Given the description of an element on the screen output the (x, y) to click on. 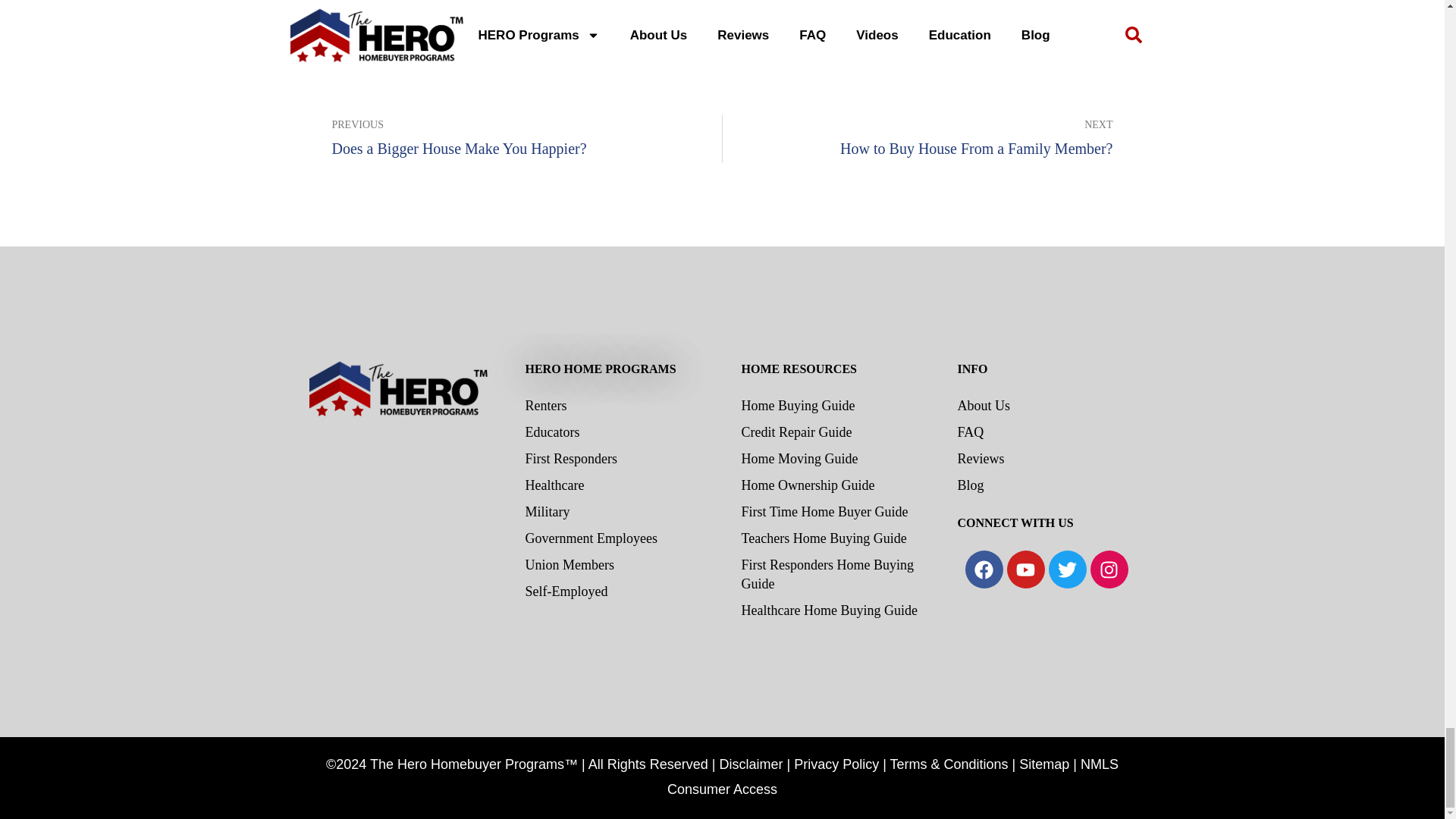
logo-removebg-preview (397, 469)
